Given the description of an element on the screen output the (x, y) to click on. 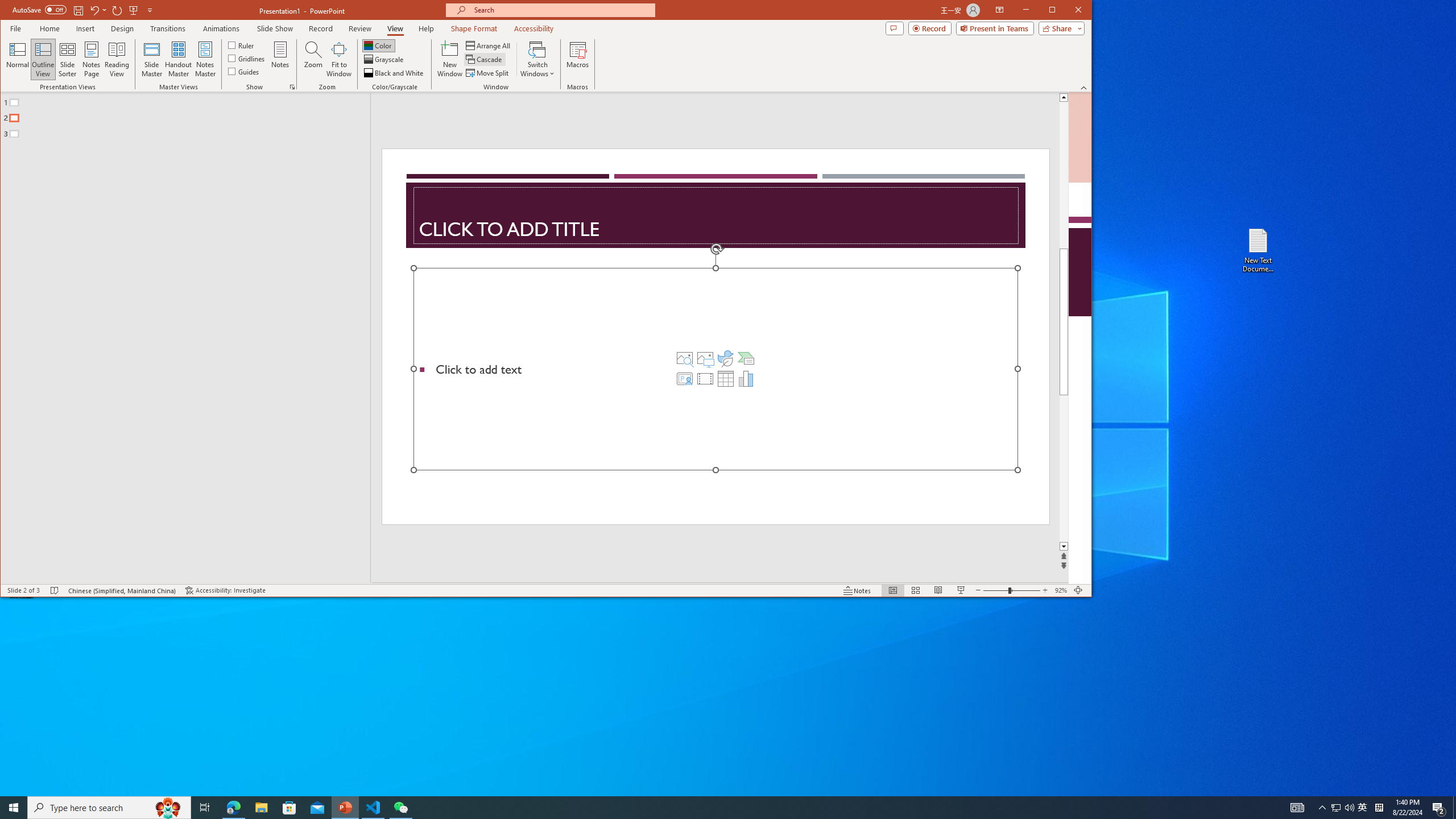
Move Split (488, 72)
WeChat - 1 running window (400, 807)
Zoom... (312, 59)
Insert Cameo (684, 378)
Notes (279, 59)
